Given the description of an element on the screen output the (x, y) to click on. 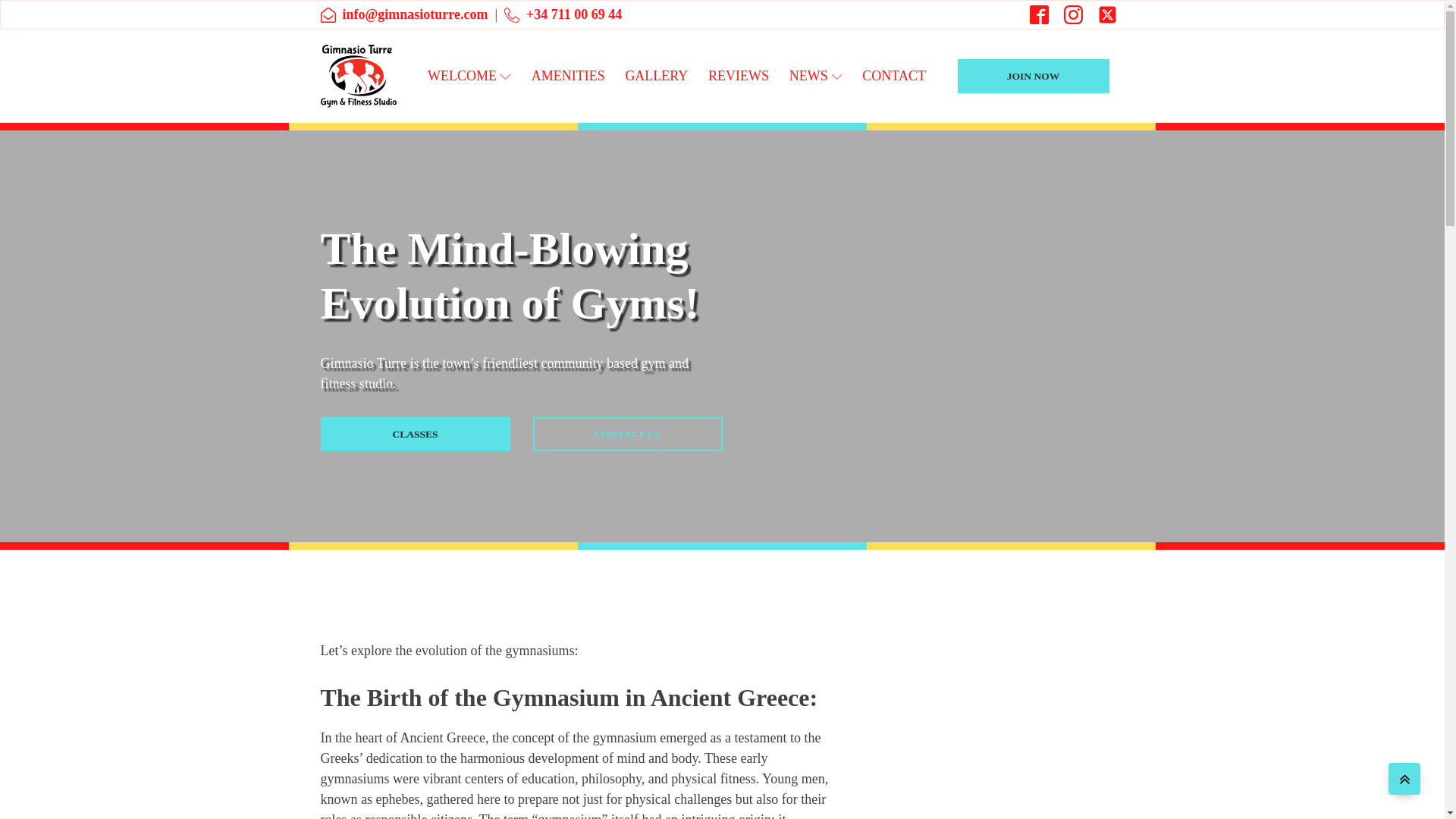
CLASSES (414, 433)
CONTACT (893, 76)
AMENITIES (567, 76)
WELCOME (469, 76)
NEWS (814, 76)
JOIN NOW (1032, 75)
REVIEWS (738, 76)
GALLERY (656, 76)
CONTACT US (627, 433)
